Given the description of an element on the screen output the (x, y) to click on. 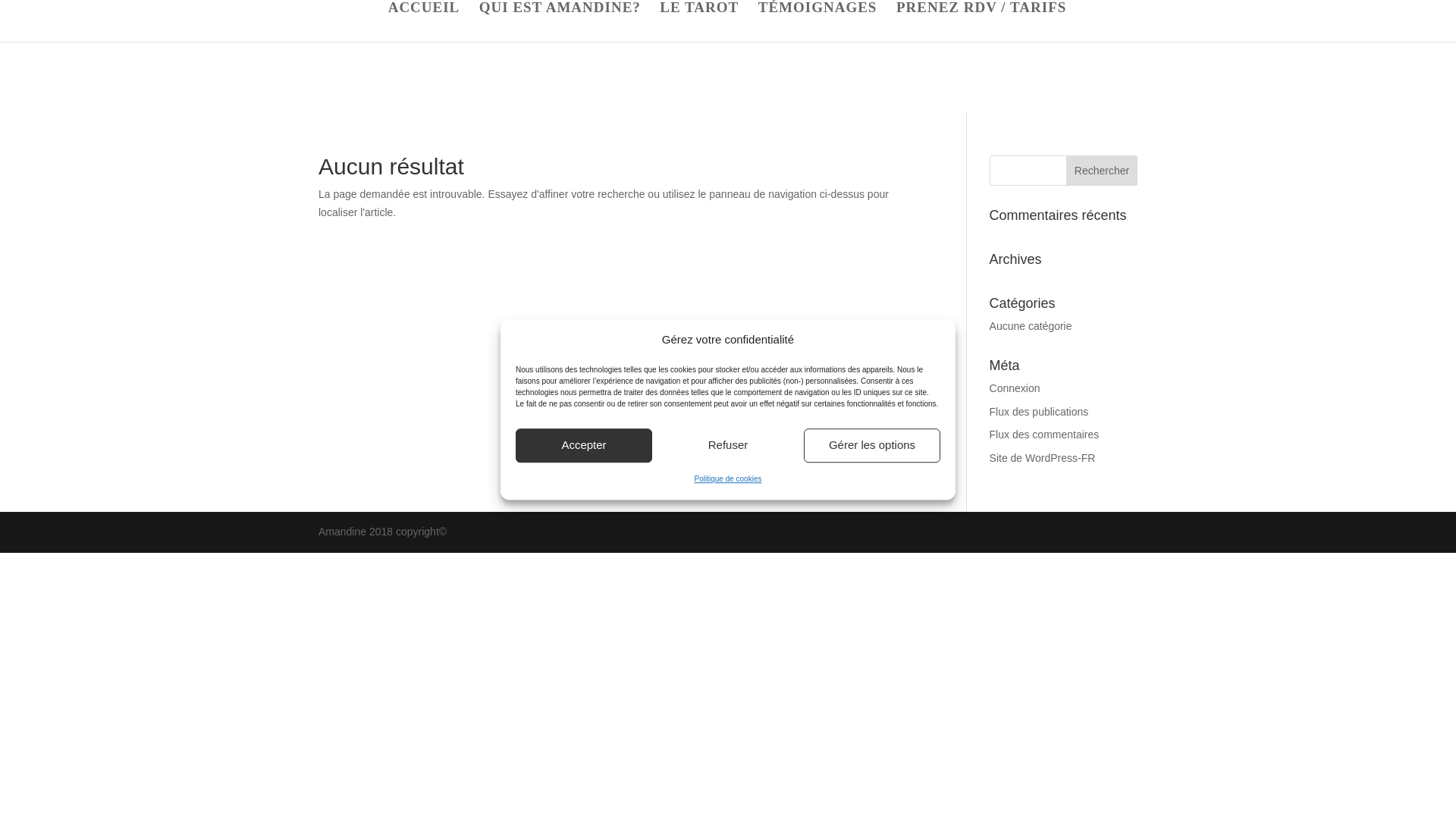
Flux des publications (1039, 411)
Rechercher (1101, 170)
Connexion (1015, 387)
Politique de cookies (727, 479)
Rechercher (1101, 170)
ACCUEIL (424, 21)
Flux des commentaires (1044, 434)
Site de WordPress-FR (1043, 458)
LE TAROT (698, 21)
QUI EST AMANDINE? (559, 21)
